Given the description of an element on the screen output the (x, y) to click on. 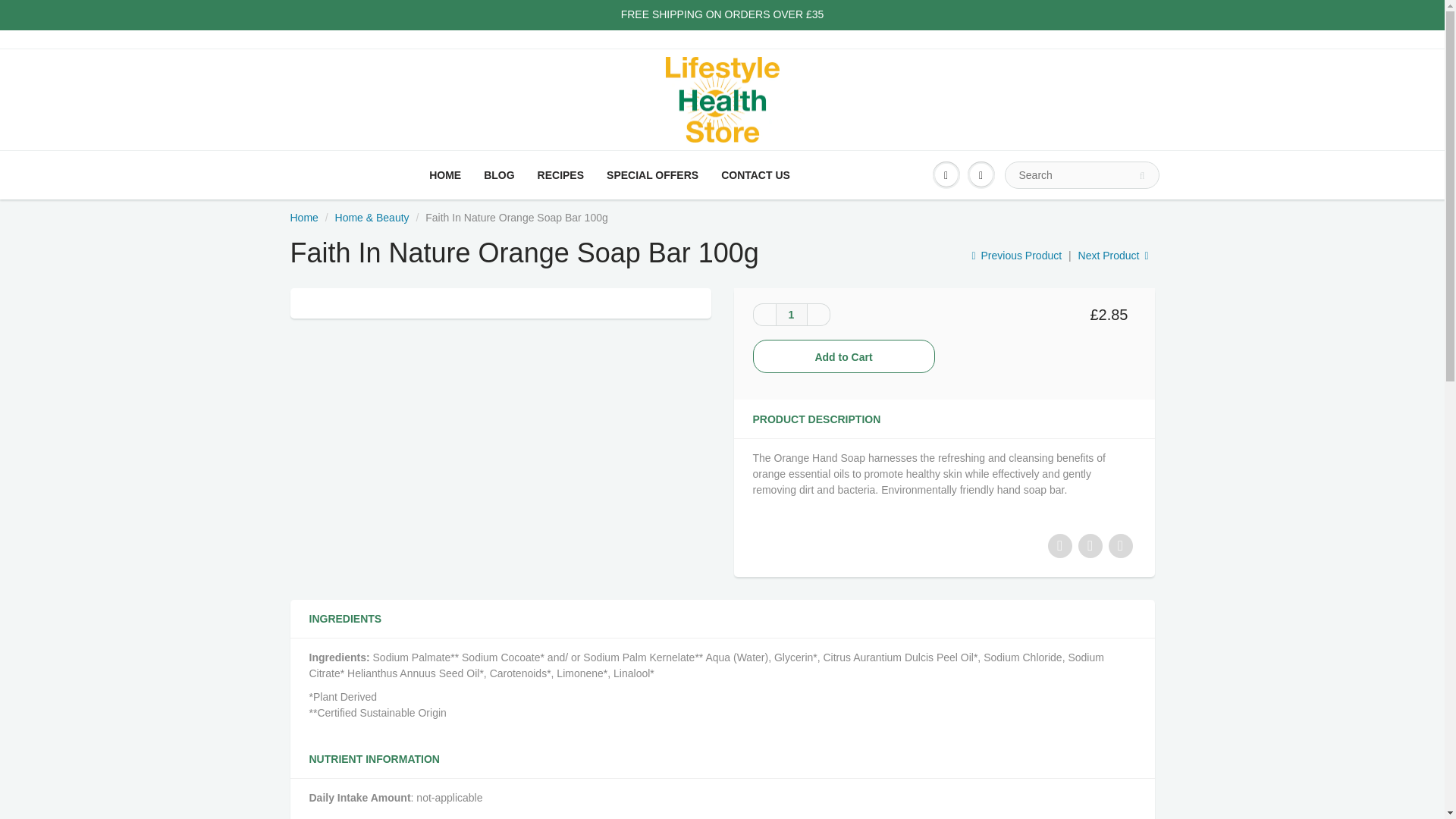
Home (303, 217)
HOME (444, 175)
RECIPES (560, 175)
SPECIAL OFFERS (652, 175)
Next Product (1114, 255)
Add to Cart (843, 356)
Add to Cart (843, 356)
Home (303, 217)
BLOG (498, 175)
Search (1141, 175)
CONTACT US (756, 175)
Previous Product (1015, 255)
1 (790, 314)
